Given the description of an element on the screen output the (x, y) to click on. 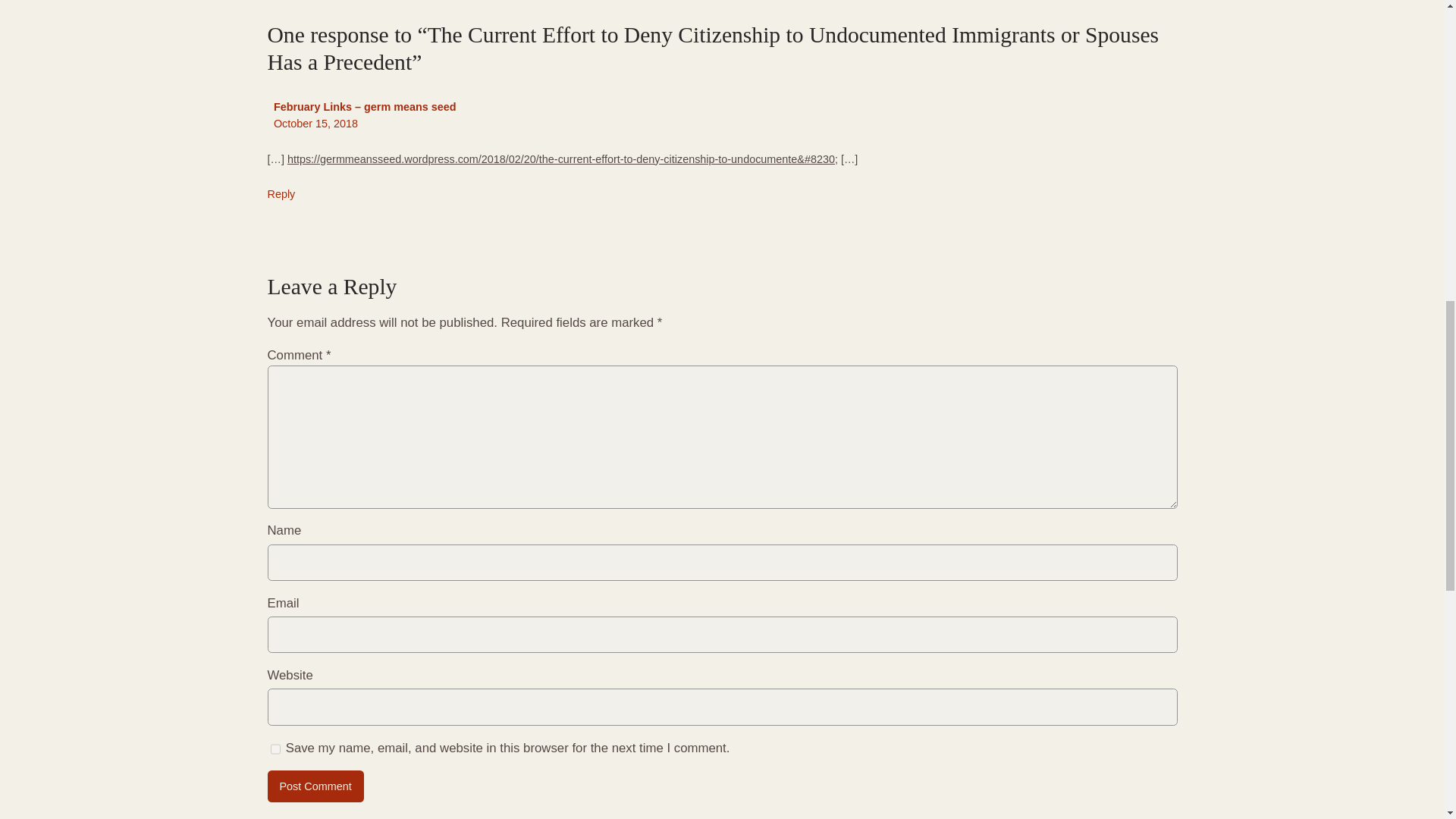
Reply (280, 193)
Post Comment (314, 786)
October 15, 2018 (315, 123)
Post Comment (314, 786)
